Given the description of an element on the screen output the (x, y) to click on. 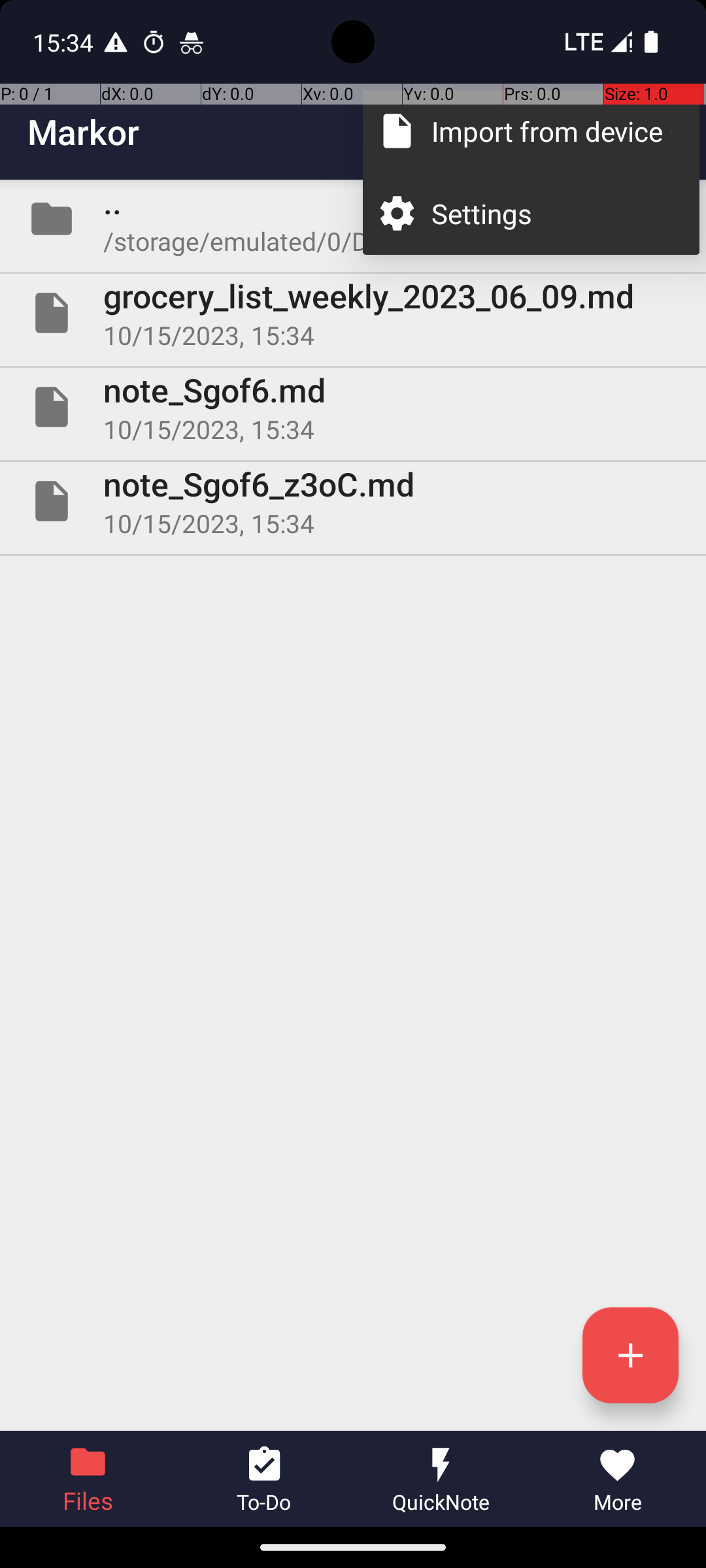
Import from device Element type: android.widget.TextView (551, 130)
